Given the description of an element on the screen output the (x, y) to click on. 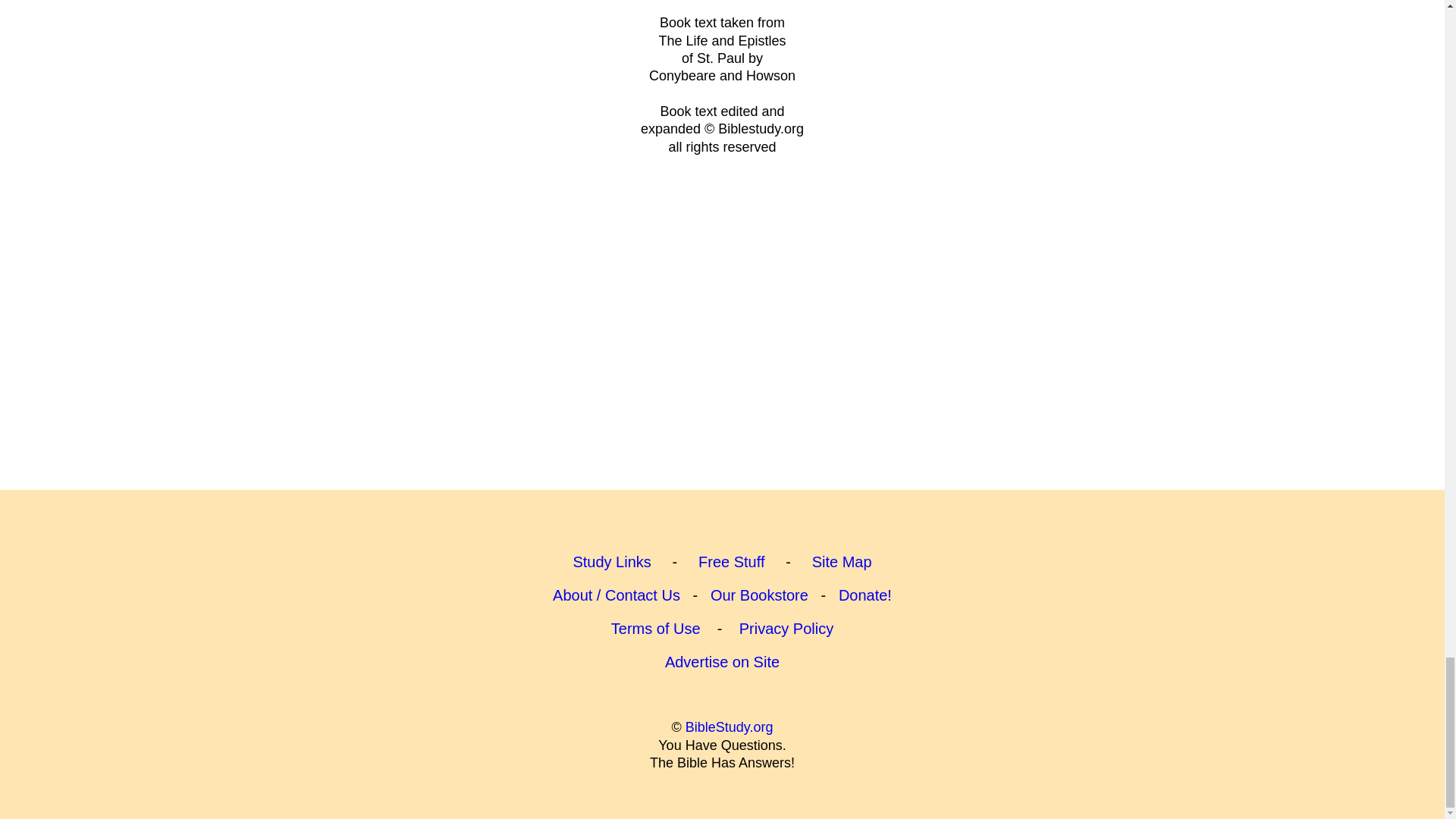
Study Links (611, 561)
Free Stuff (731, 561)
Site Map (842, 561)
